Given the description of an element on the screen output the (x, y) to click on. 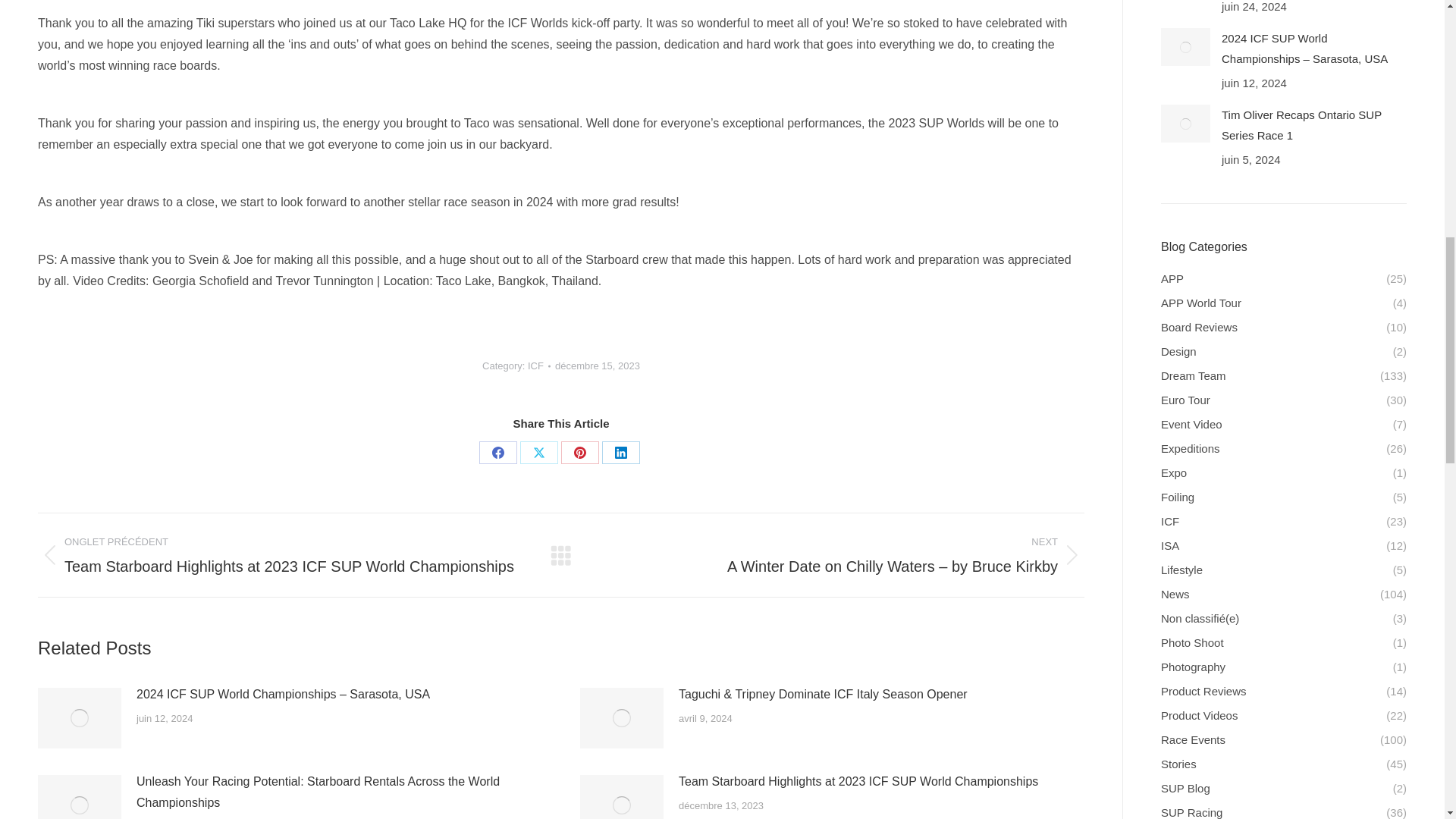
Facebook (497, 452)
X (538, 452)
4:37 am (597, 365)
